Given the description of an element on the screen output the (x, y) to click on. 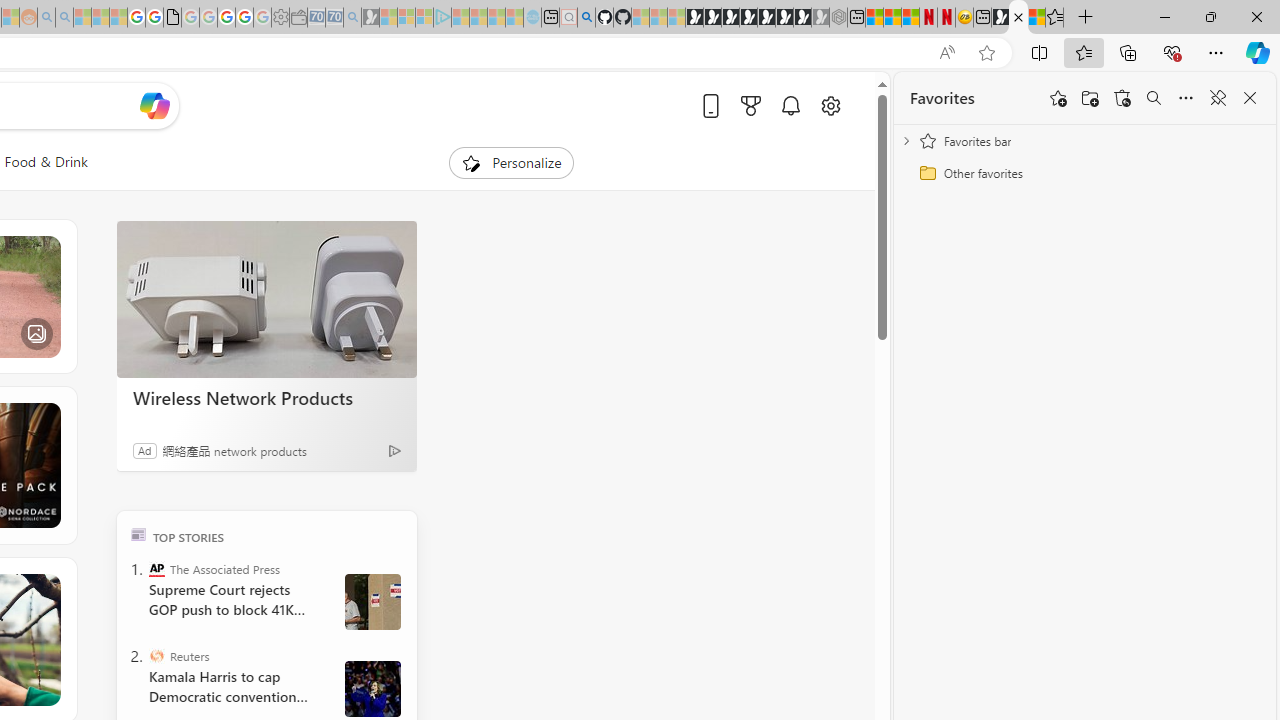
The Associated Press (156, 568)
 Harris and Walz campaign in Wisconsin (372, 688)
Restore deleted favorites (1122, 98)
